Given the description of an element on the screen output the (x, y) to click on. 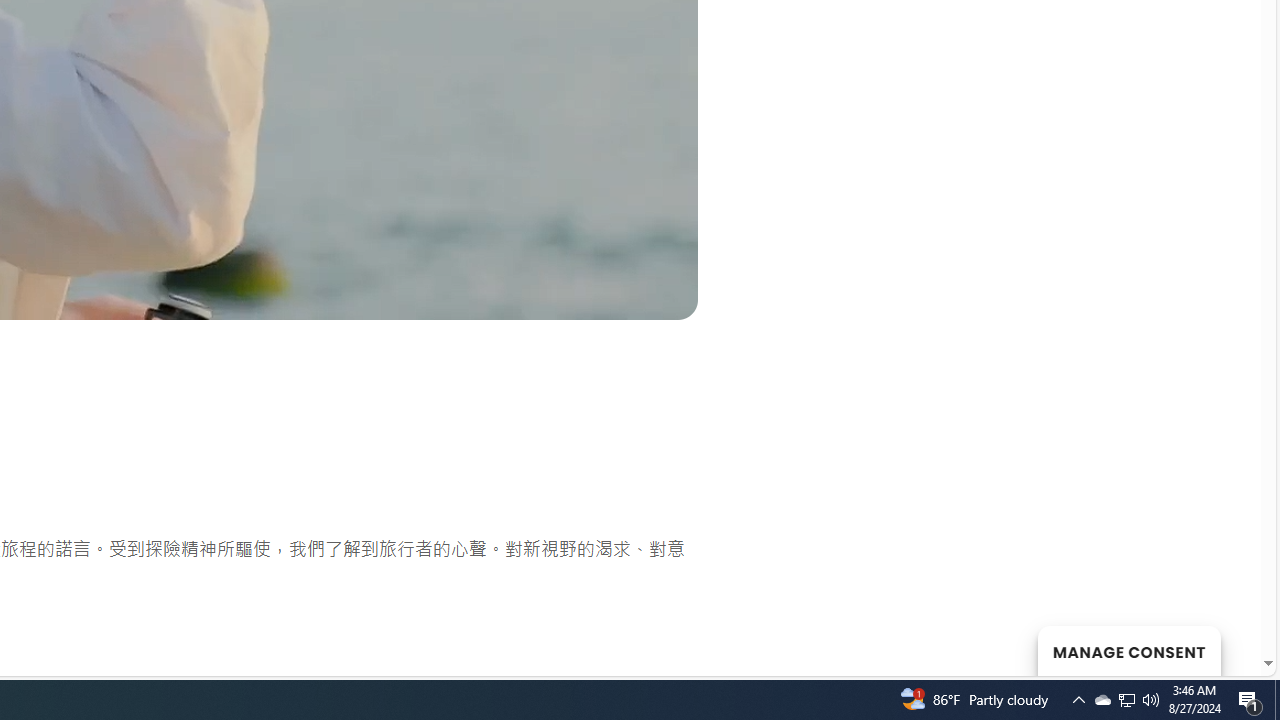
MANAGE CONSENT (1128, 650)
